Given the description of an element on the screen output the (x, y) to click on. 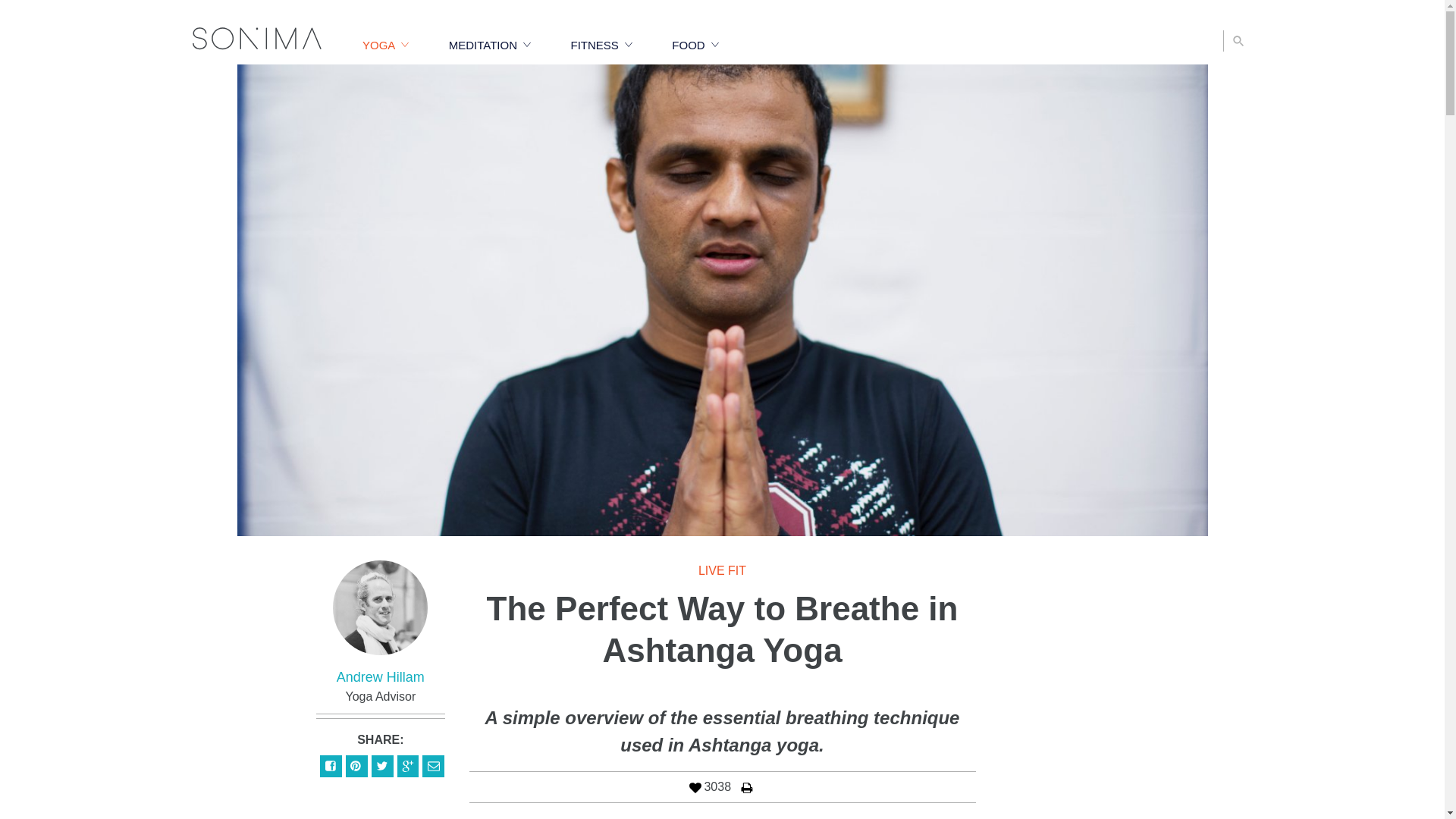
Print this page (748, 786)
YOGA (385, 44)
MEDITATION (489, 44)
FITNESS (600, 44)
FOOD (694, 44)
